Given the description of an element on the screen output the (x, y) to click on. 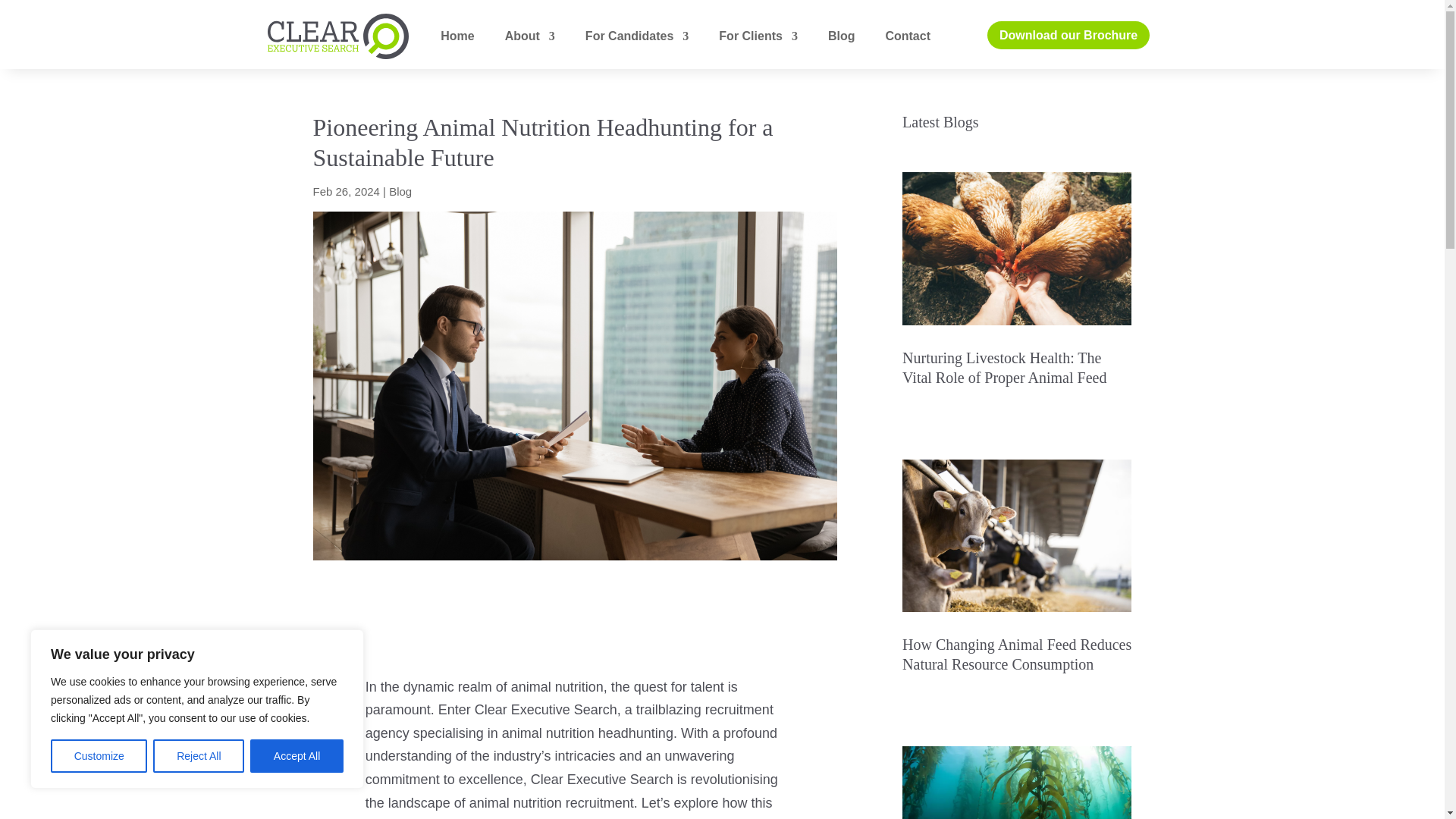
Accept All (296, 756)
Customize (98, 756)
Reject All (198, 756)
For Clients (758, 36)
For Candidates (636, 36)
